Given the description of an element on the screen output the (x, y) to click on. 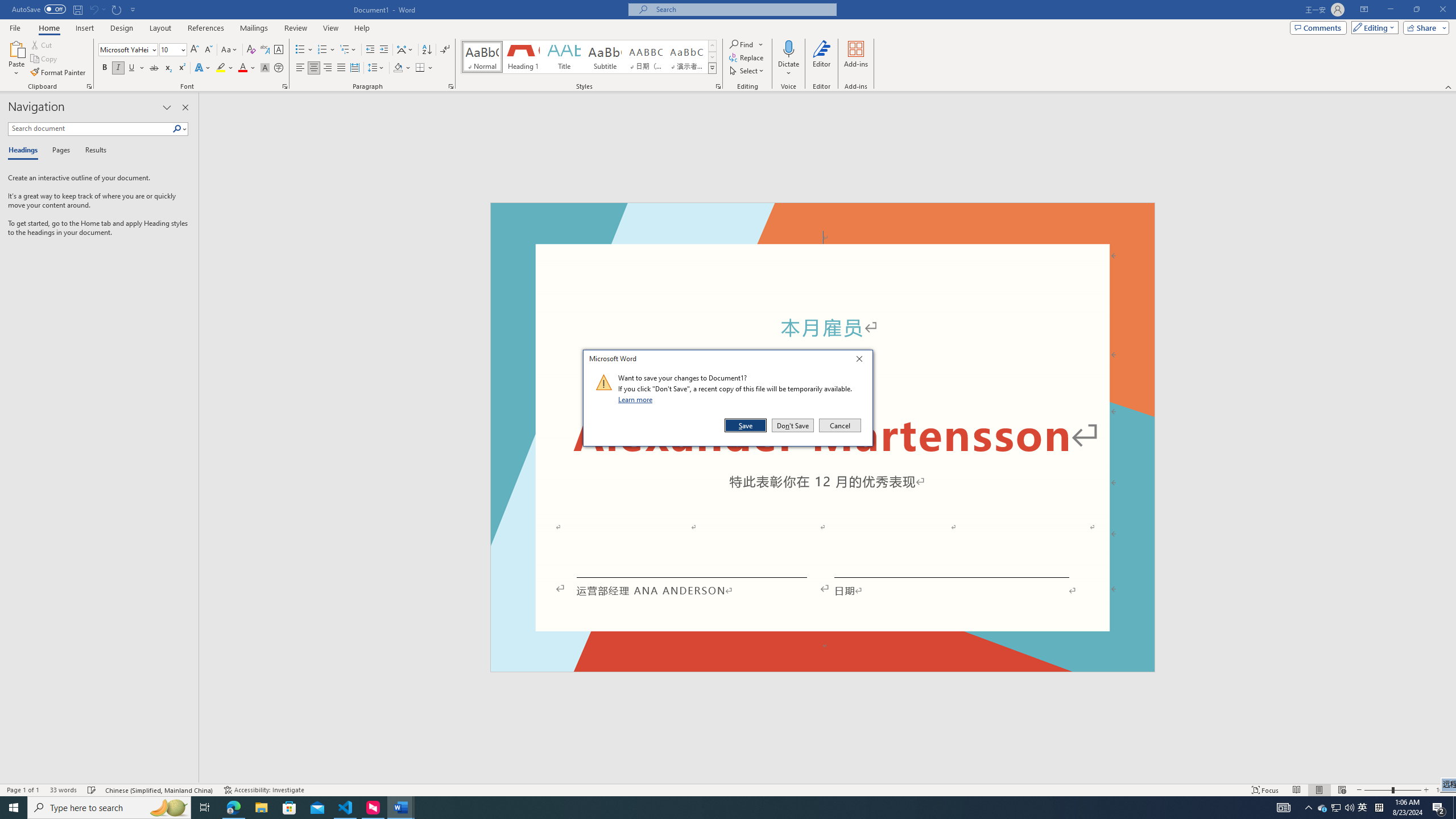
Format Painter (58, 72)
Select (747, 69)
Bold (104, 67)
Shading (402, 67)
Zoom (1392, 790)
Results (91, 150)
Text Highlight Color Yellow (220, 67)
Subtitle (605, 56)
Phonetic Guide... (264, 49)
